Given the description of an element on the screen output the (x, y) to click on. 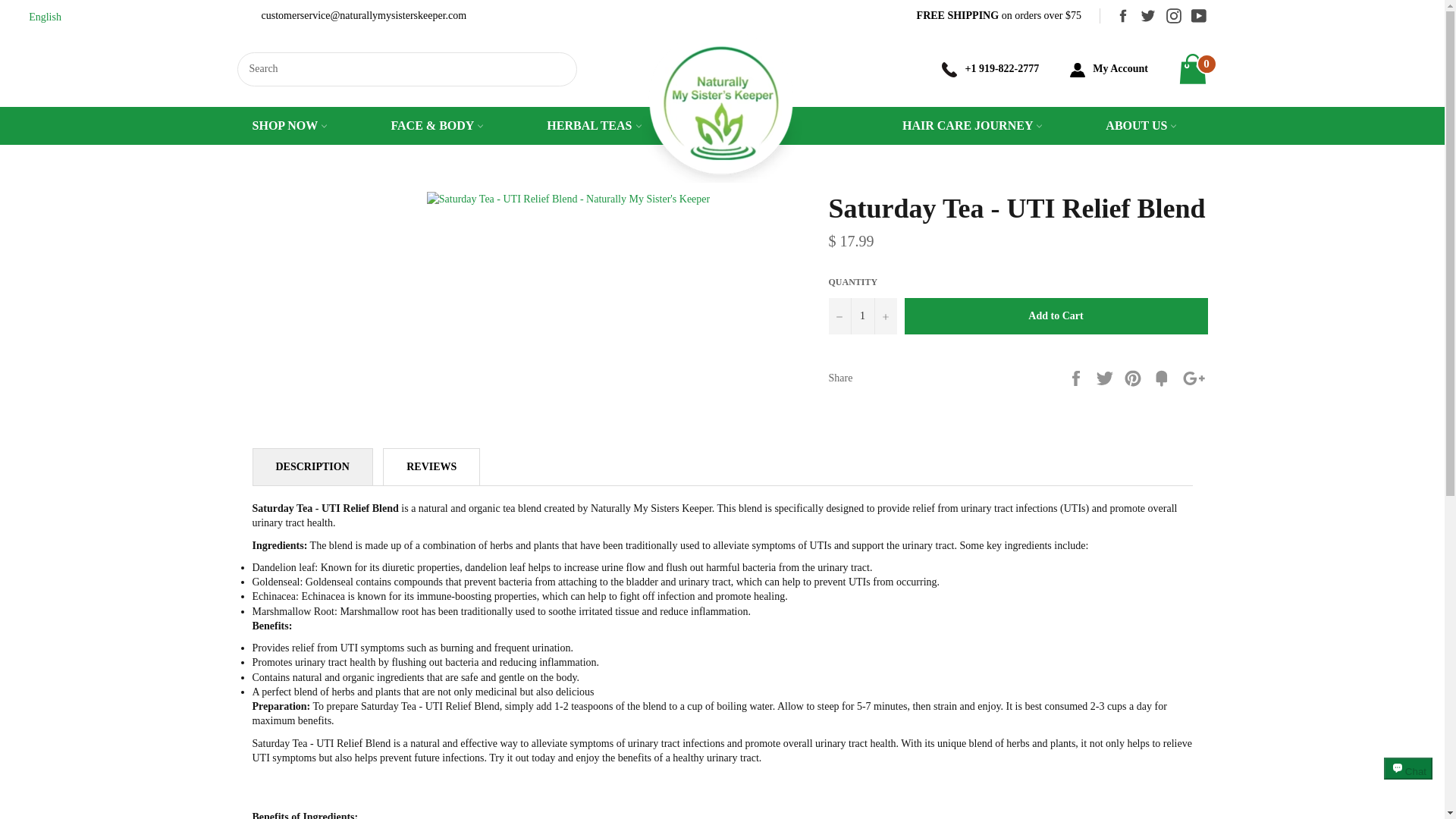
Naturally My Sister's Keeper on YouTube (1195, 15)
1 (862, 316)
Add to Fancy (1163, 377)
Naturally My Sister's Keeper on Facebook (1117, 15)
Shopify online store chat (1408, 781)
Naturally My Sister's Keeper on Instagram (1169, 15)
Share on Facebook (1077, 377)
Naturally My Sister's Keeper on Twitter (1144, 15)
Pin on Pinterest (1134, 377)
Tweet on Twitter (1106, 377)
